Given the description of an element on the screen output the (x, y) to click on. 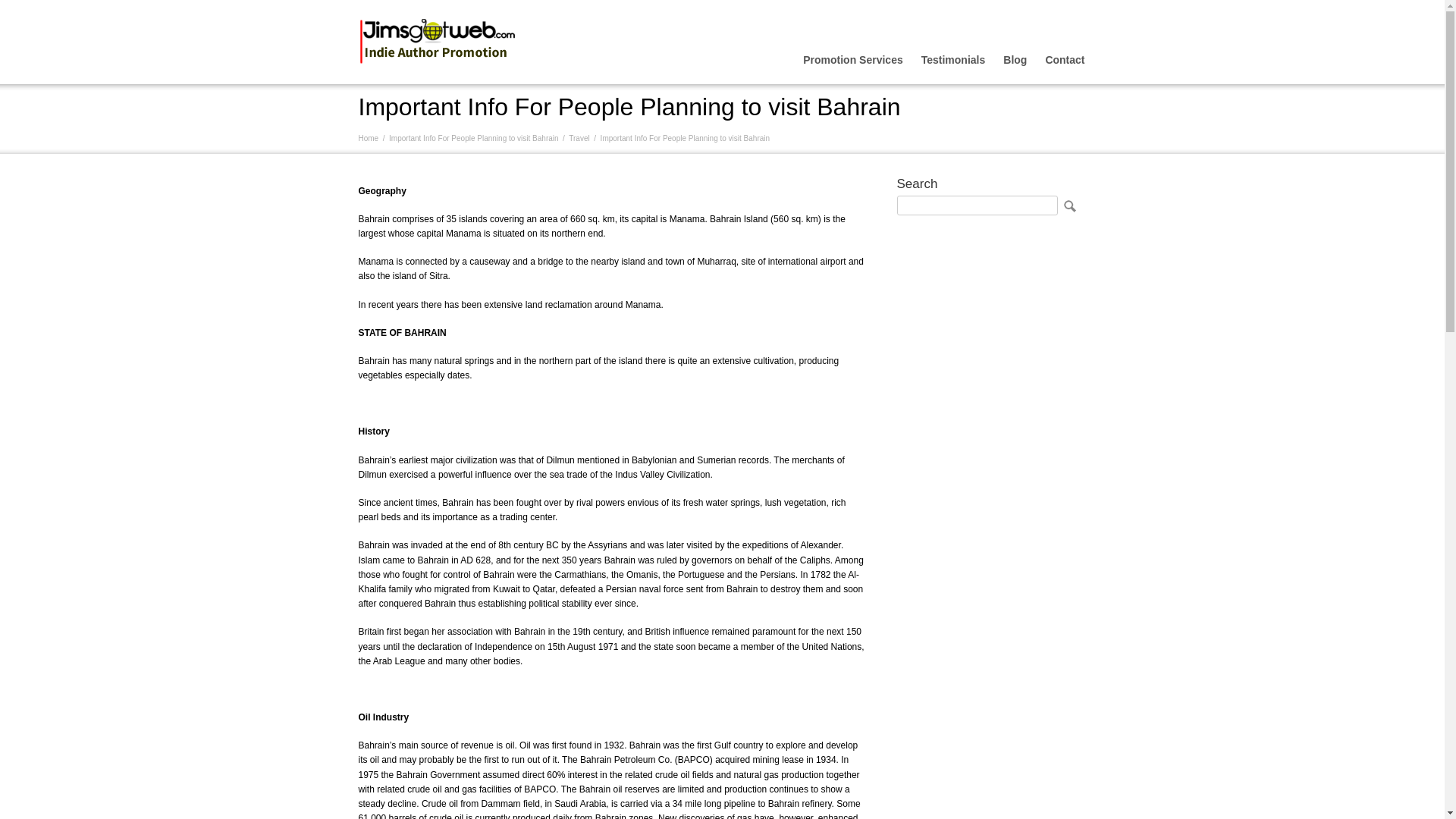
Search (1068, 205)
Important Info For People Planning to visit Bahrain (472, 138)
Blog (1014, 59)
Contact (1064, 59)
Testimonials (953, 59)
Travel (579, 138)
Search (1068, 205)
Search (1068, 205)
Travel (579, 138)
Home (368, 138)
Promotion Services (852, 59)
